Given the description of an element on the screen output the (x, y) to click on. 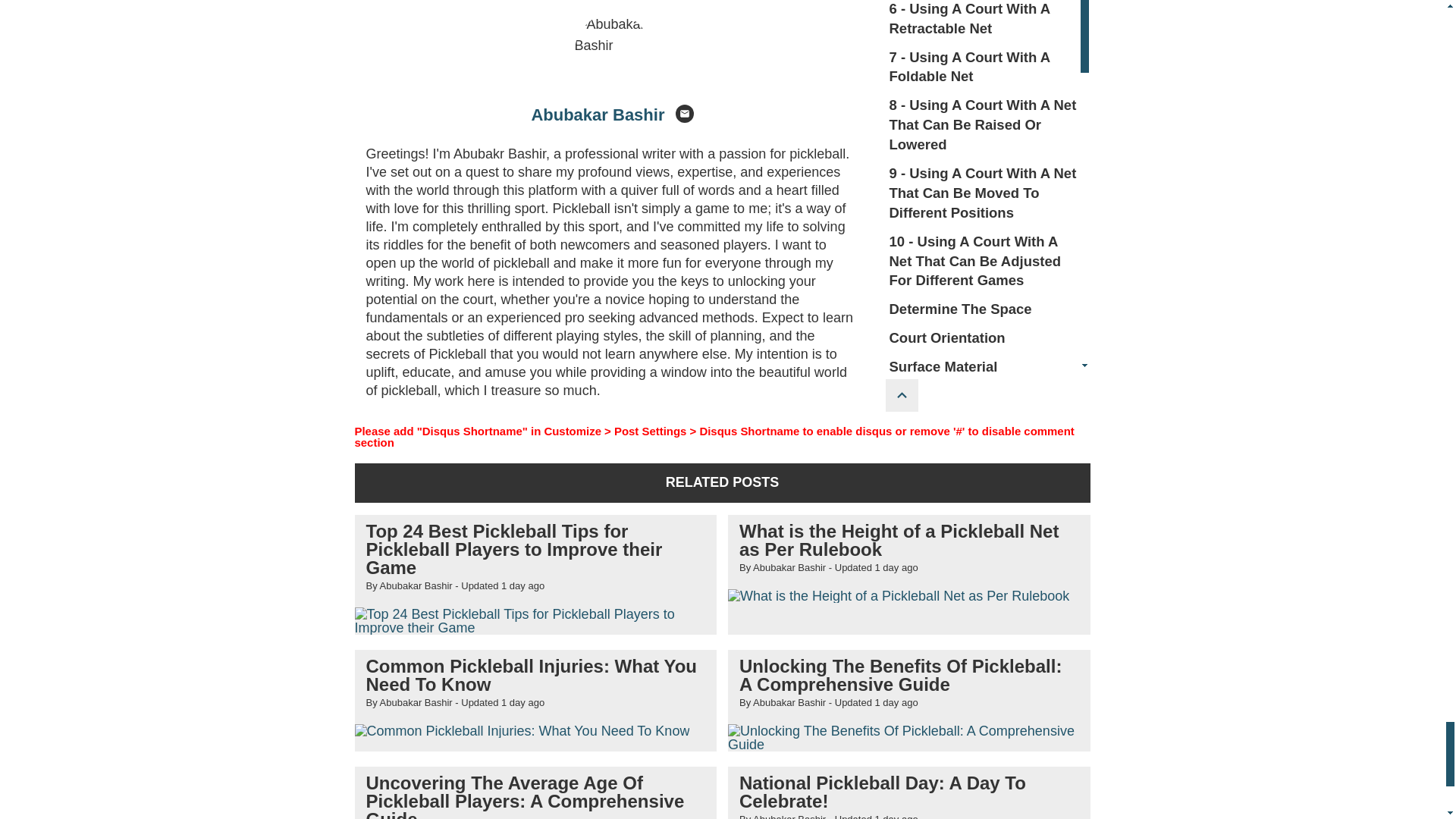
Abubakar Bashir (597, 114)
